Given the description of an element on the screen output the (x, y) to click on. 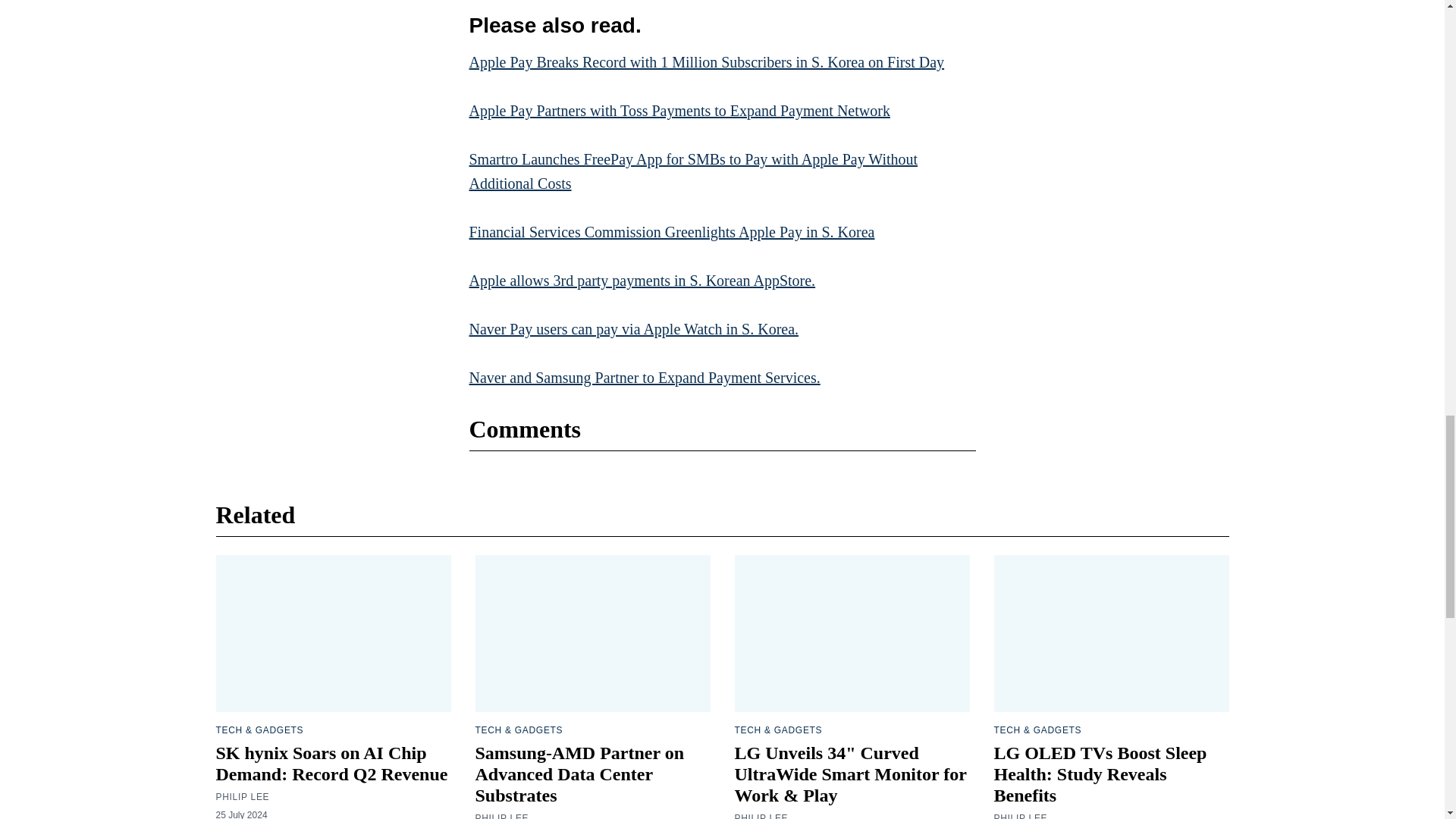
Samsung-AMD Partner on Advanced Data Center Substrates (579, 773)
Apple allows 3rd party payments in S. Korean AppStore. (641, 280)
SK hynix Soars on AI Chip Demand: Record Q2 Revenue (330, 762)
PHILIP LEE (242, 797)
Naver Pay users can pay via Apple Watch in S. Korea. (632, 329)
Naver and Samsung Partner to Expand Payment Services. (643, 377)
PHILIP LEE (501, 815)
